Given the description of an element on the screen output the (x, y) to click on. 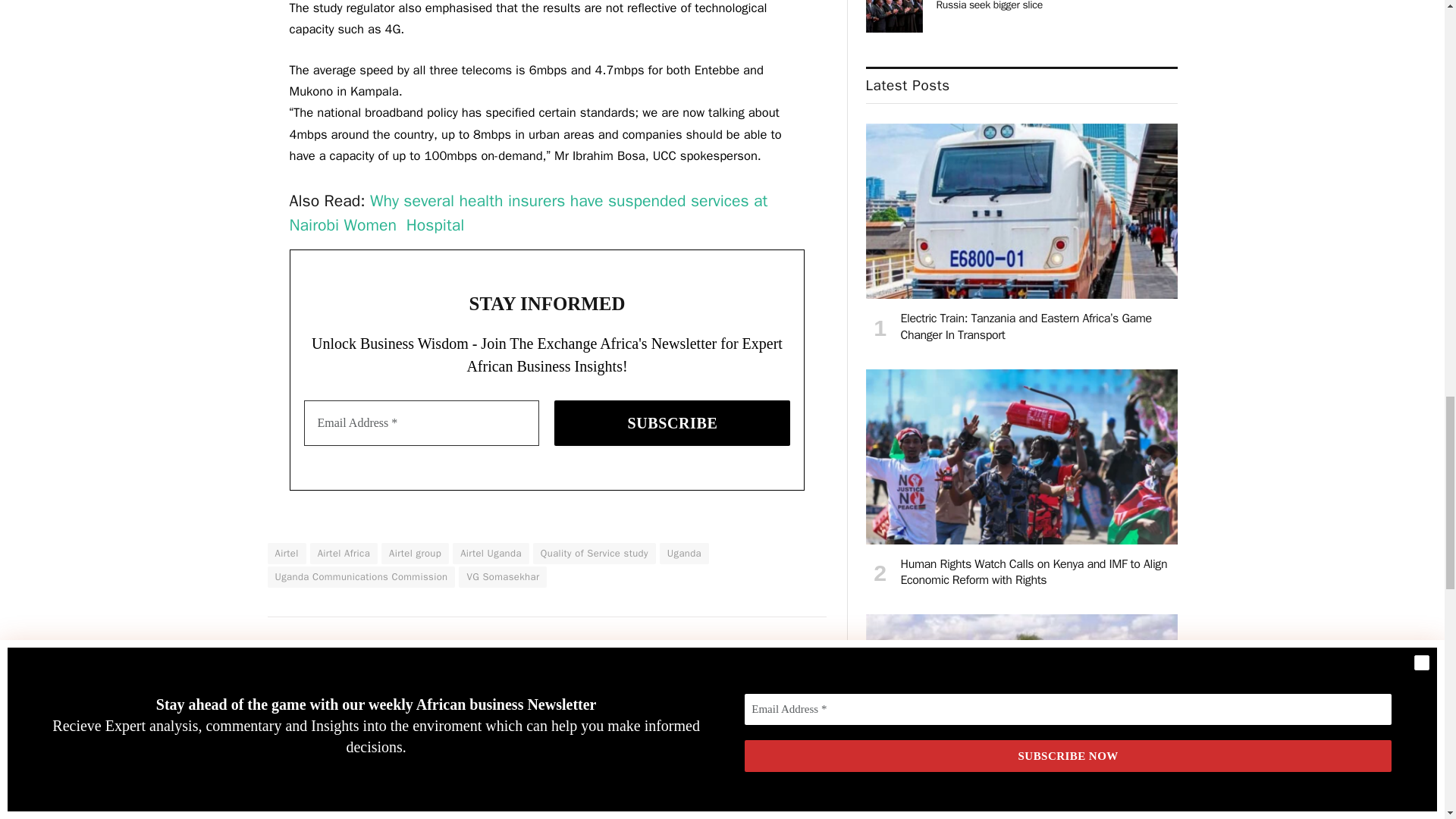
SUBSCRIBE (672, 422)
